Given the description of an element on the screen output the (x, y) to click on. 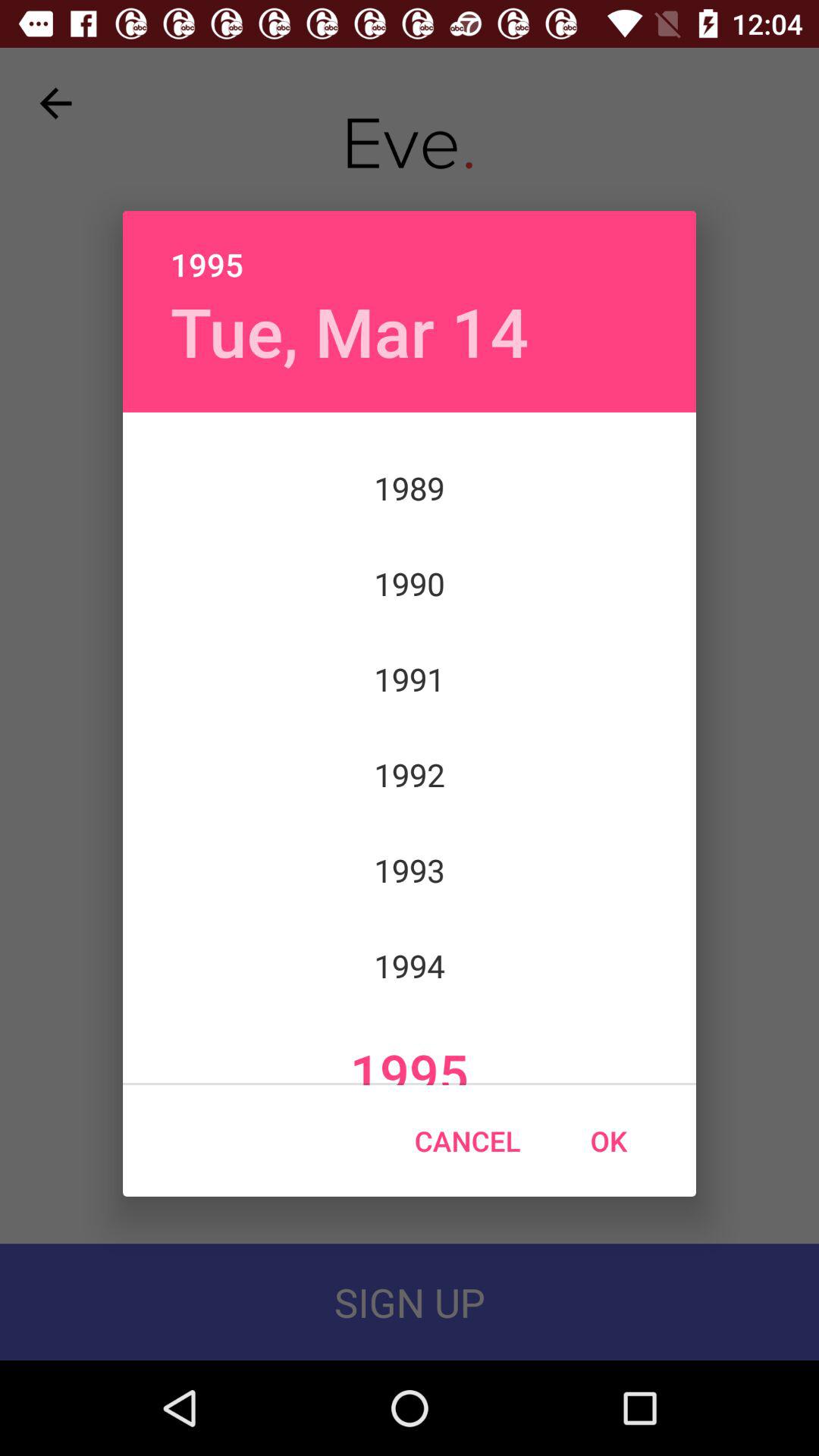
turn off the item below the 1995 icon (349, 331)
